Given the description of an element on the screen output the (x, y) to click on. 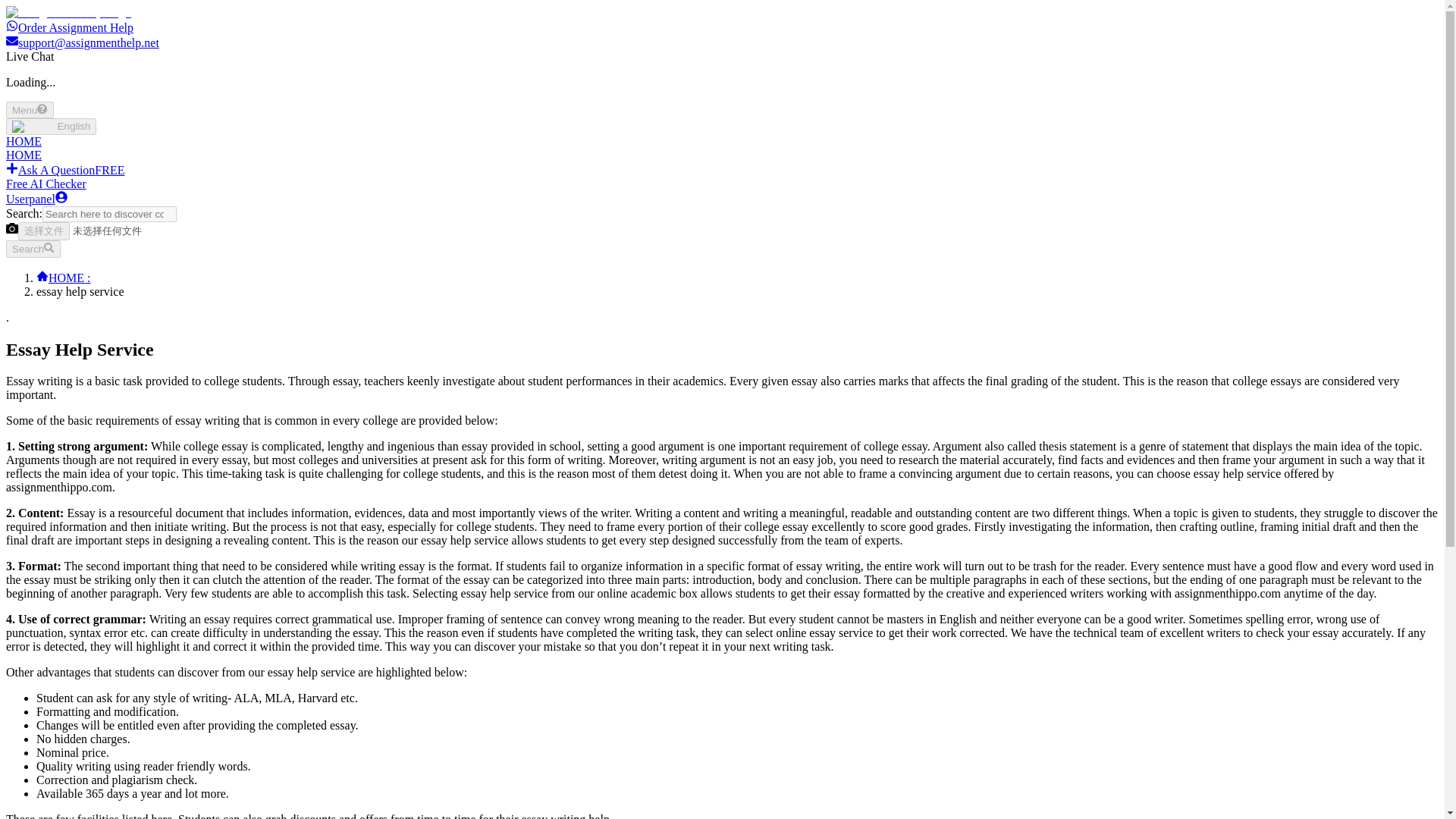
Userpanel (35, 198)
Search by Image (11, 227)
HOME (23, 154)
Free AI Checker (45, 183)
Ask A QuestionFREE (64, 169)
HOME : (63, 277)
HOME (23, 141)
Order Assignment Help (69, 27)
Search (33, 248)
English (50, 126)
Menu (29, 109)
